Given the description of an element on the screen output the (x, y) to click on. 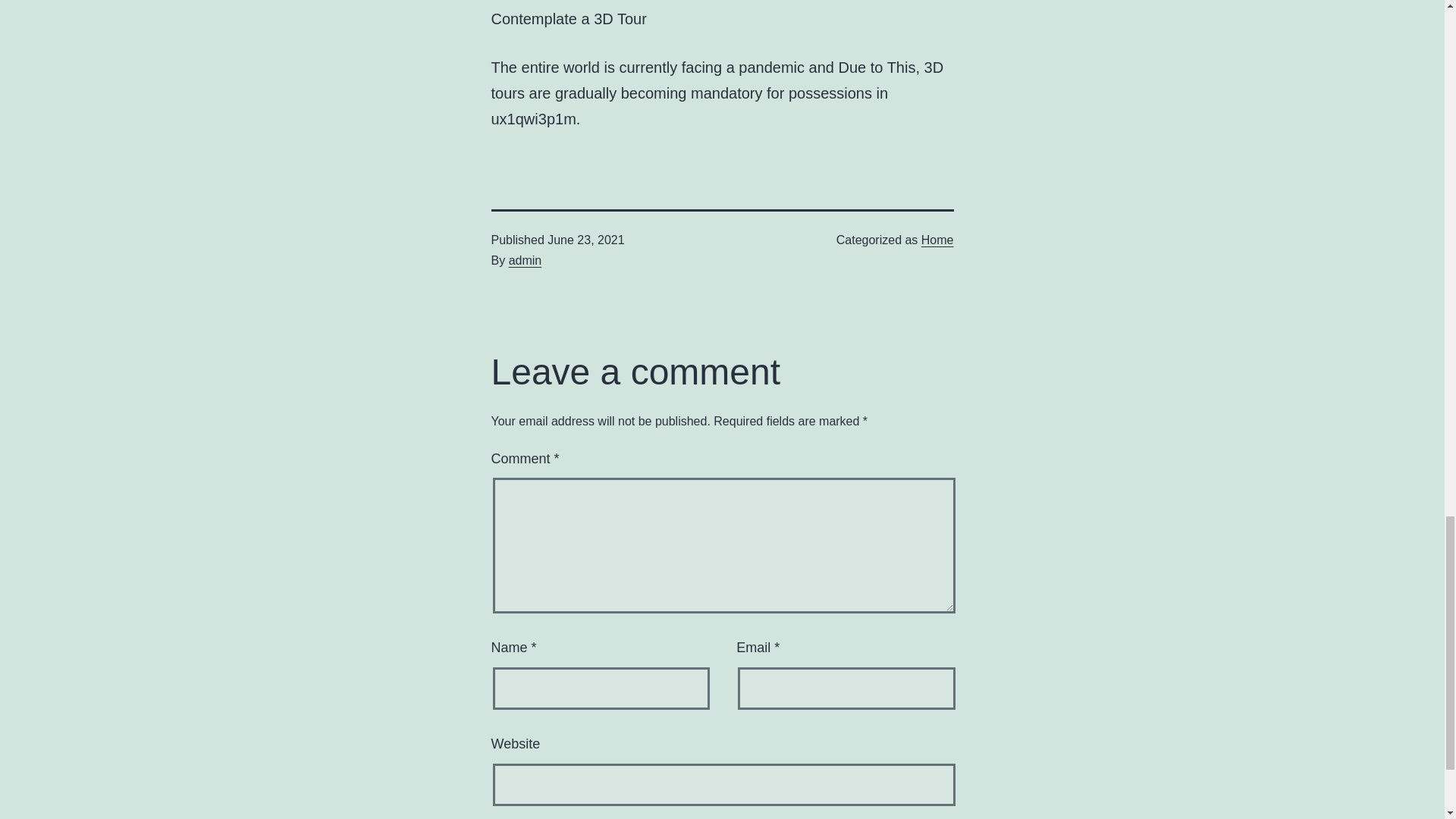
admin (524, 259)
Home (937, 239)
